Given the description of an element on the screen output the (x, y) to click on. 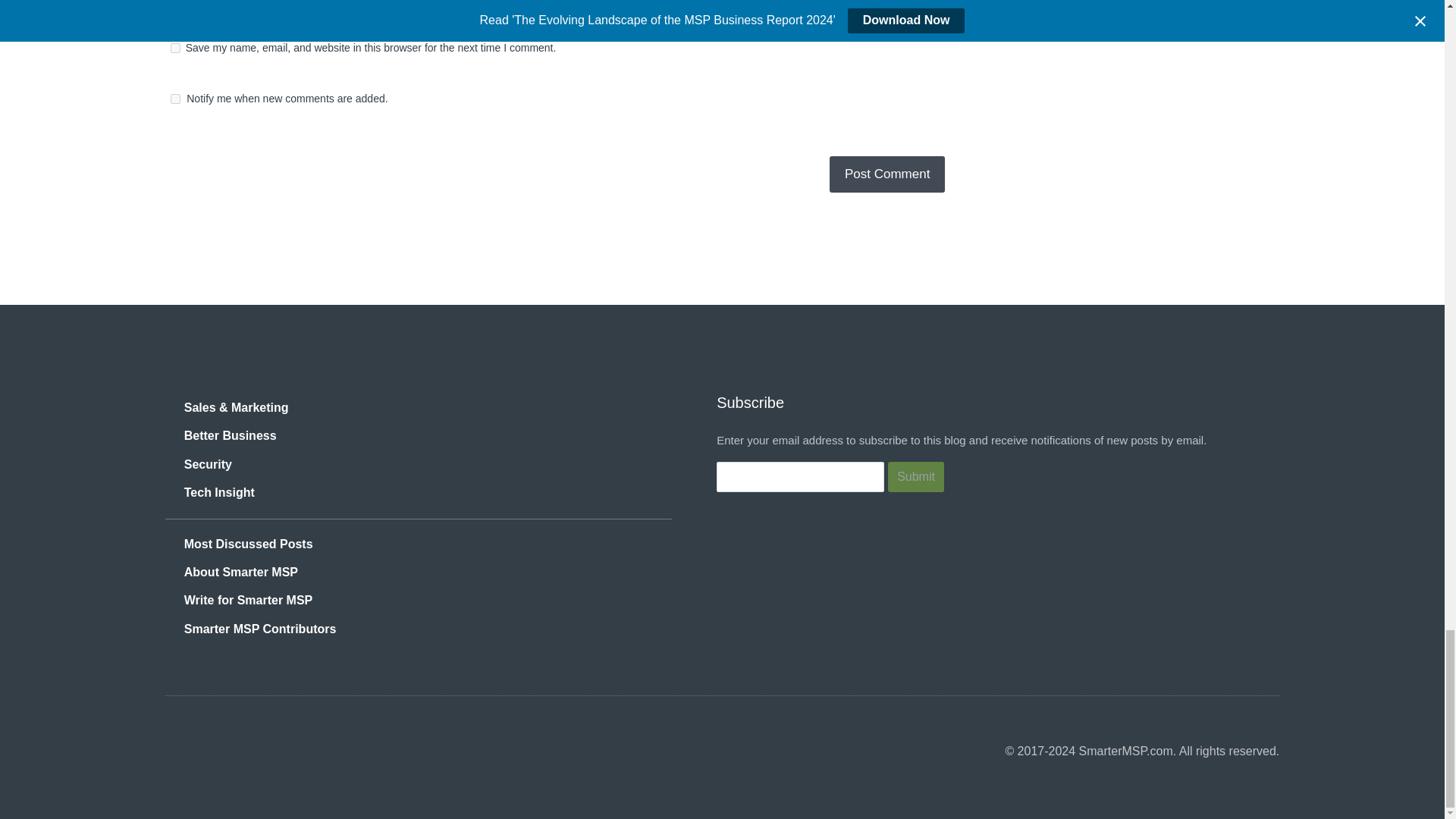
1 (175, 99)
Post Comment (886, 174)
yes (175, 48)
